Given the description of an element on the screen output the (x, y) to click on. 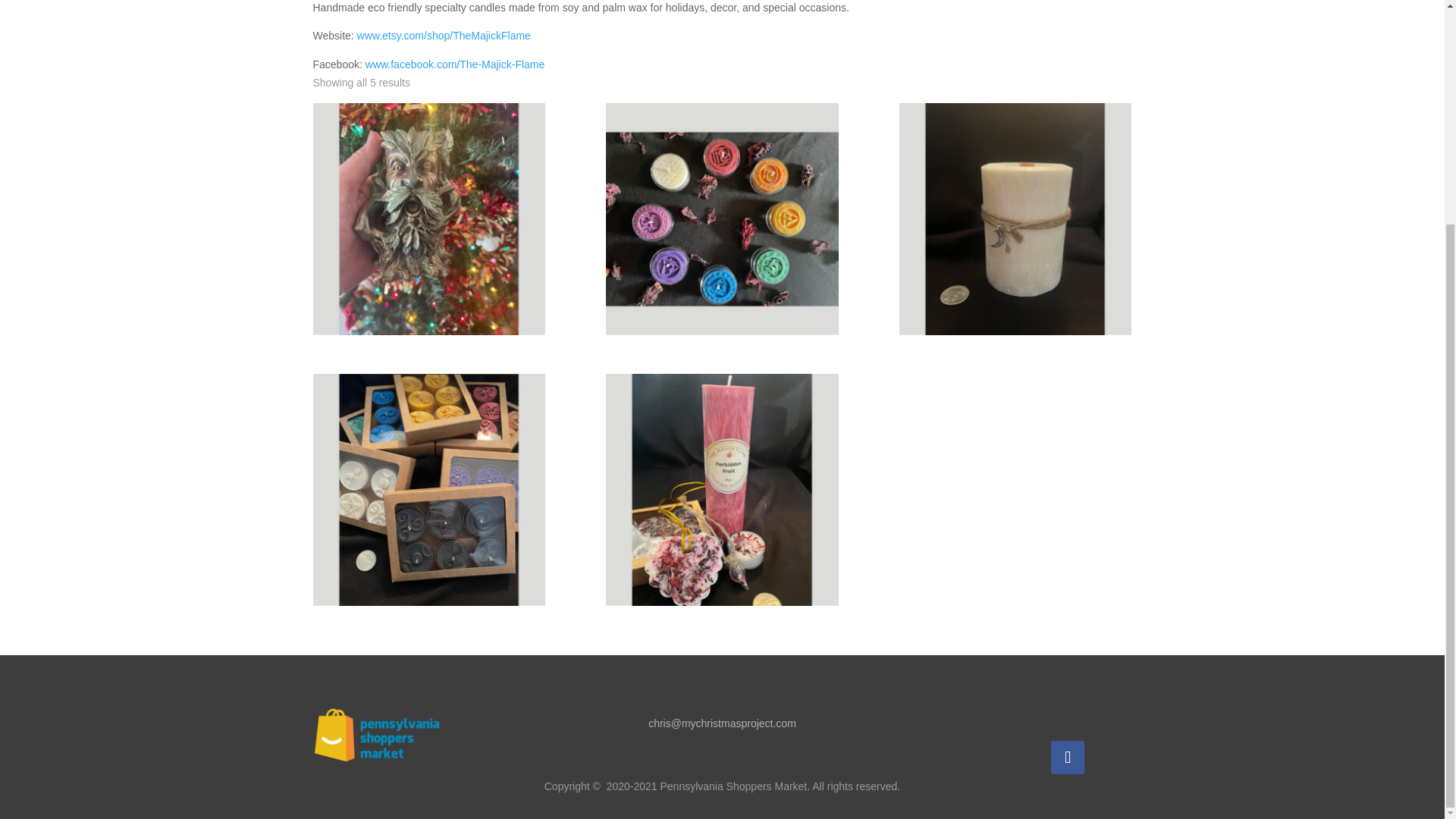
pennsylvania-SHOPPERS-MARKET-LOGO (376, 734)
Follow on Facebook (1067, 757)
